Given the description of an element on the screen output the (x, y) to click on. 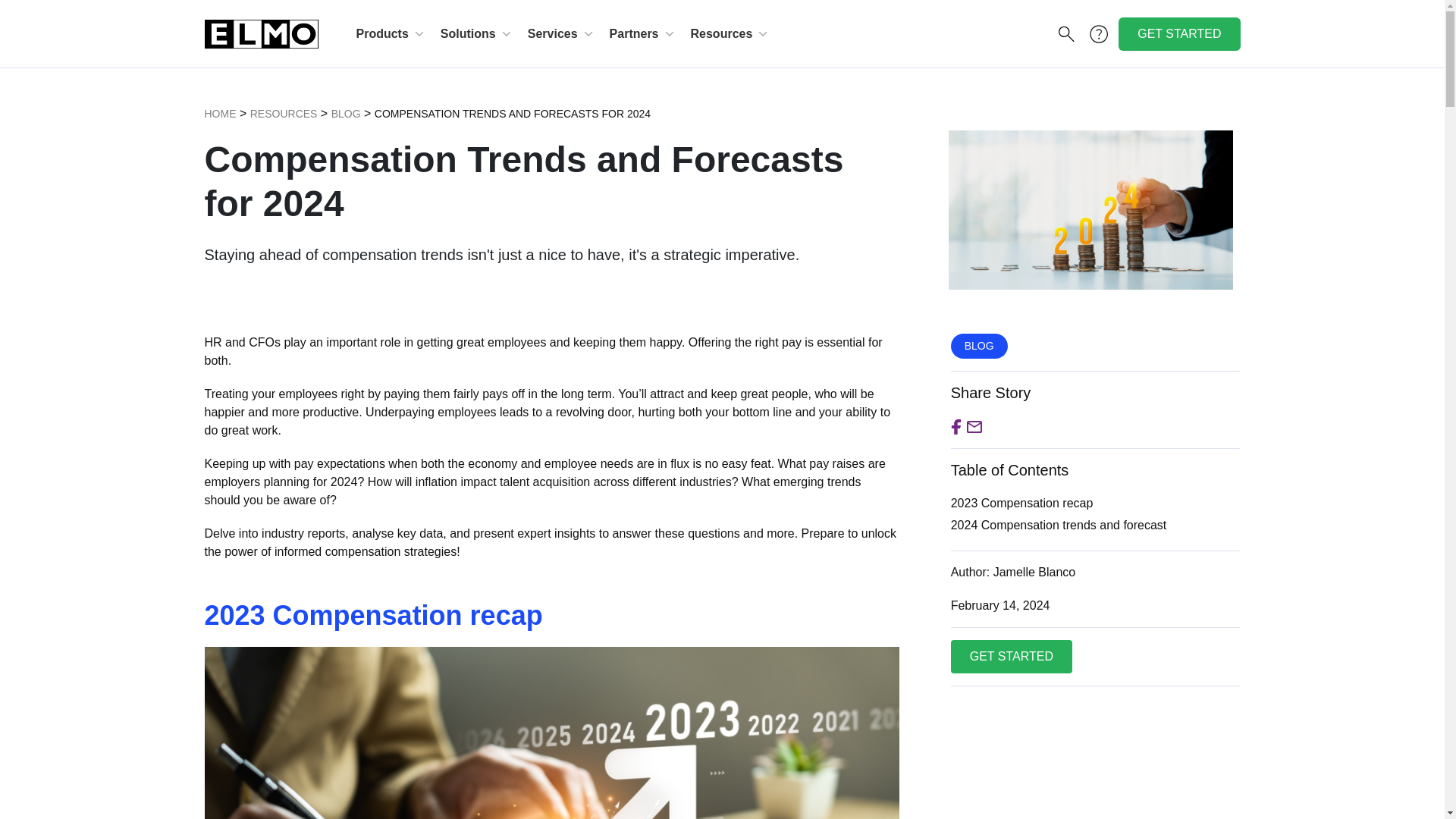
Products (390, 33)
Resources (283, 113)
